Given the description of an element on the screen output the (x, y) to click on. 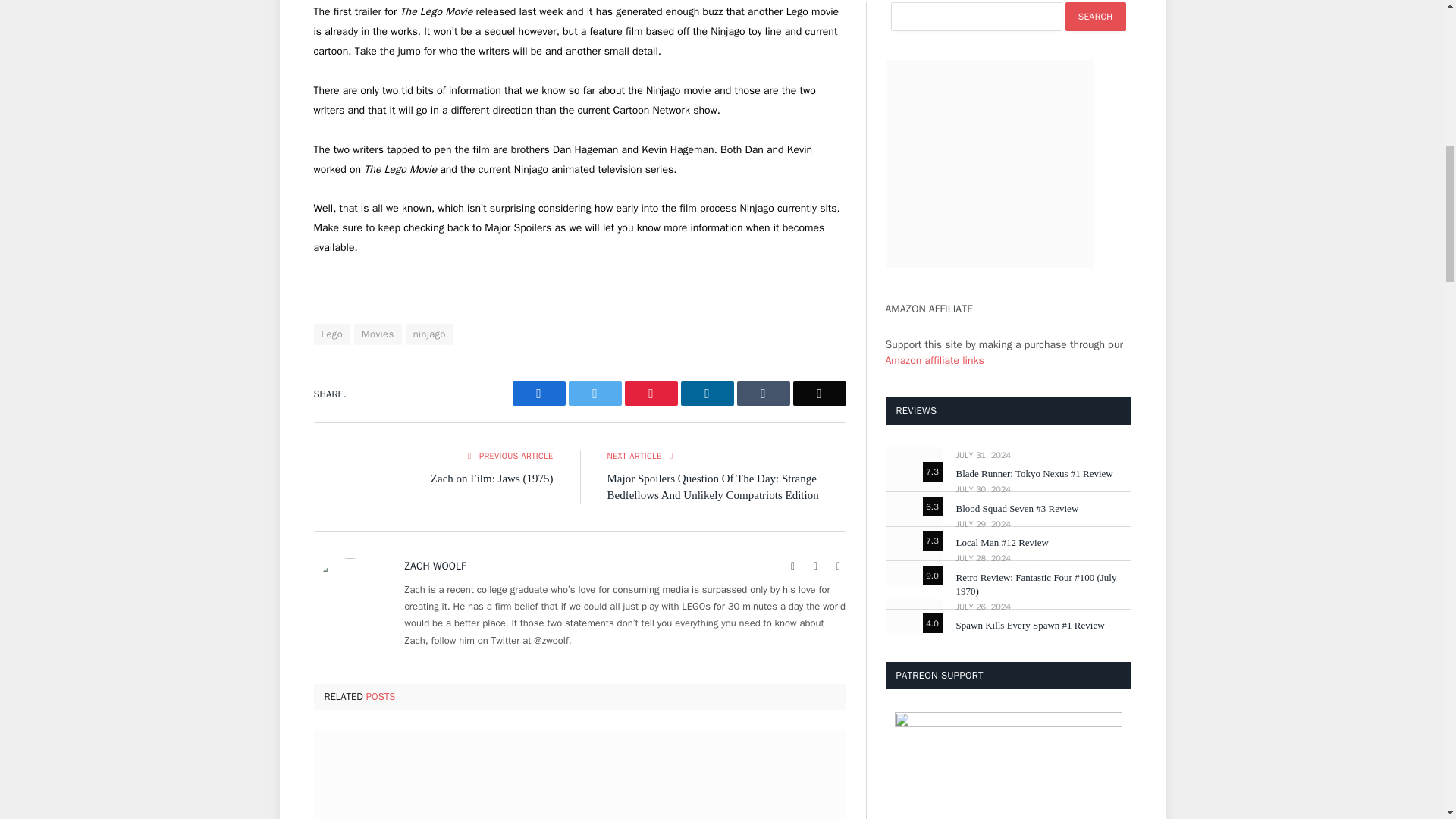
Share on LinkedIn (707, 393)
Share on Twitter (595, 393)
Search (1095, 16)
Share on Pinterest (651, 393)
Share on Facebook (539, 393)
